Given the description of an element on the screen output the (x, y) to click on. 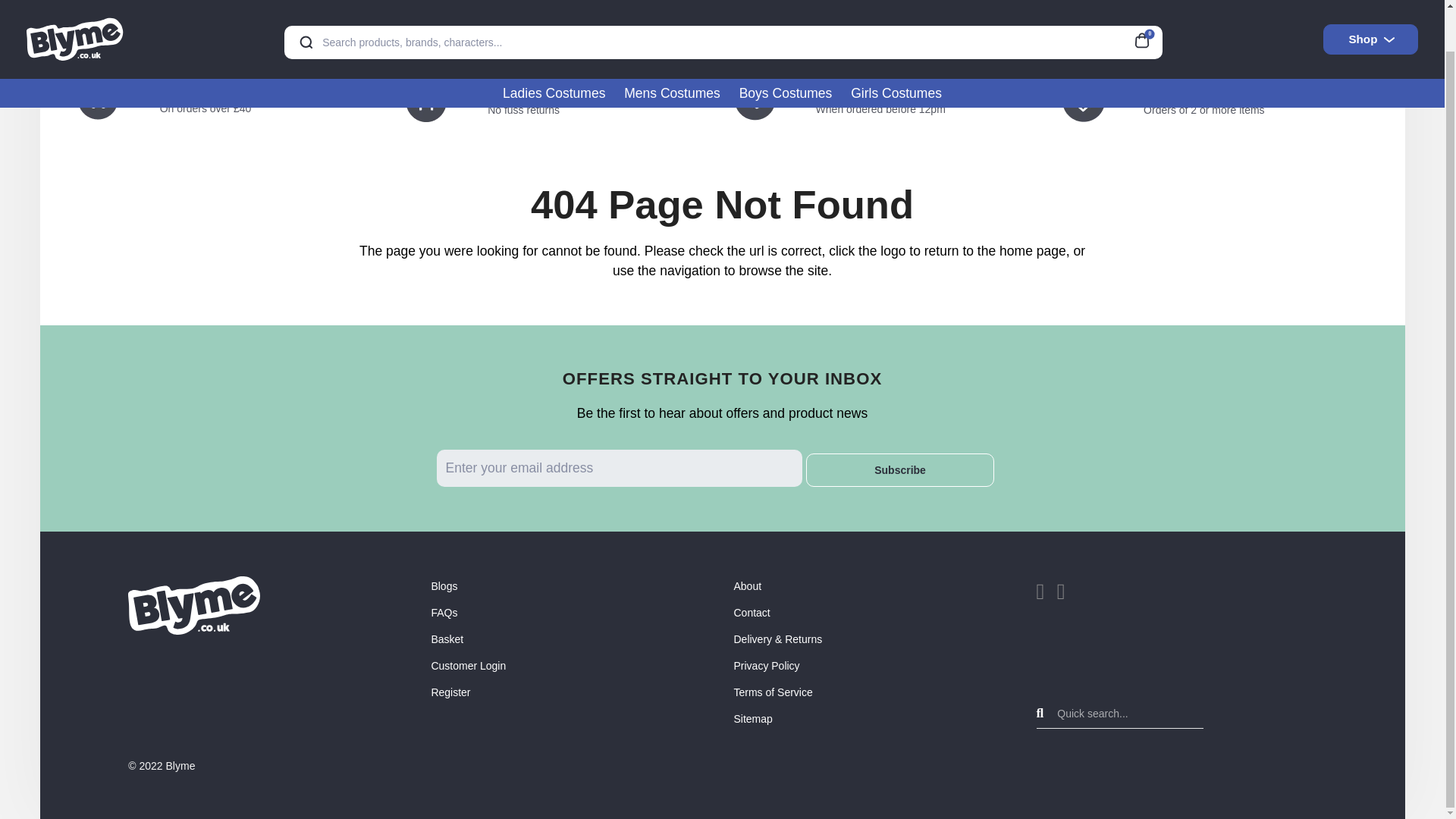
0 (1147, 2)
Subscribe (900, 470)
0 (1147, 2)
View your Basket (1147, 2)
